Given the description of an element on the screen output the (x, y) to click on. 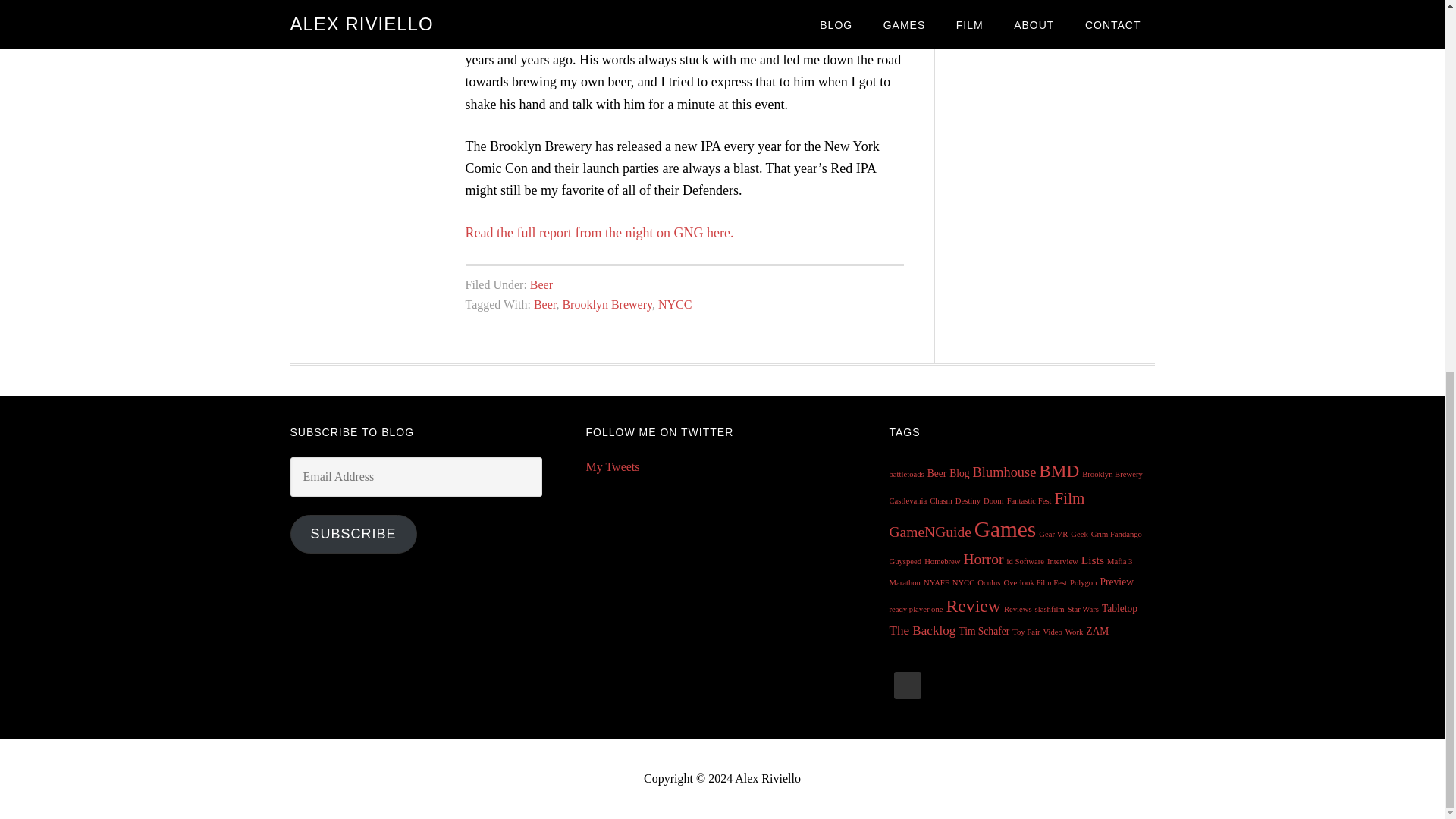
Beer (541, 284)
Games (1004, 528)
Film (1069, 497)
Chasm (941, 500)
id Software (1025, 561)
NYCC (674, 304)
Blumhouse (1004, 472)
BMD (1058, 470)
Destiny (967, 500)
Guyspeed (904, 561)
GameNGuide (929, 531)
Geek (1078, 533)
Fantastic Fest (1029, 500)
SUBSCRIBE (352, 534)
Brooklyn Brewery (607, 304)
